Given the description of an element on the screen output the (x, y) to click on. 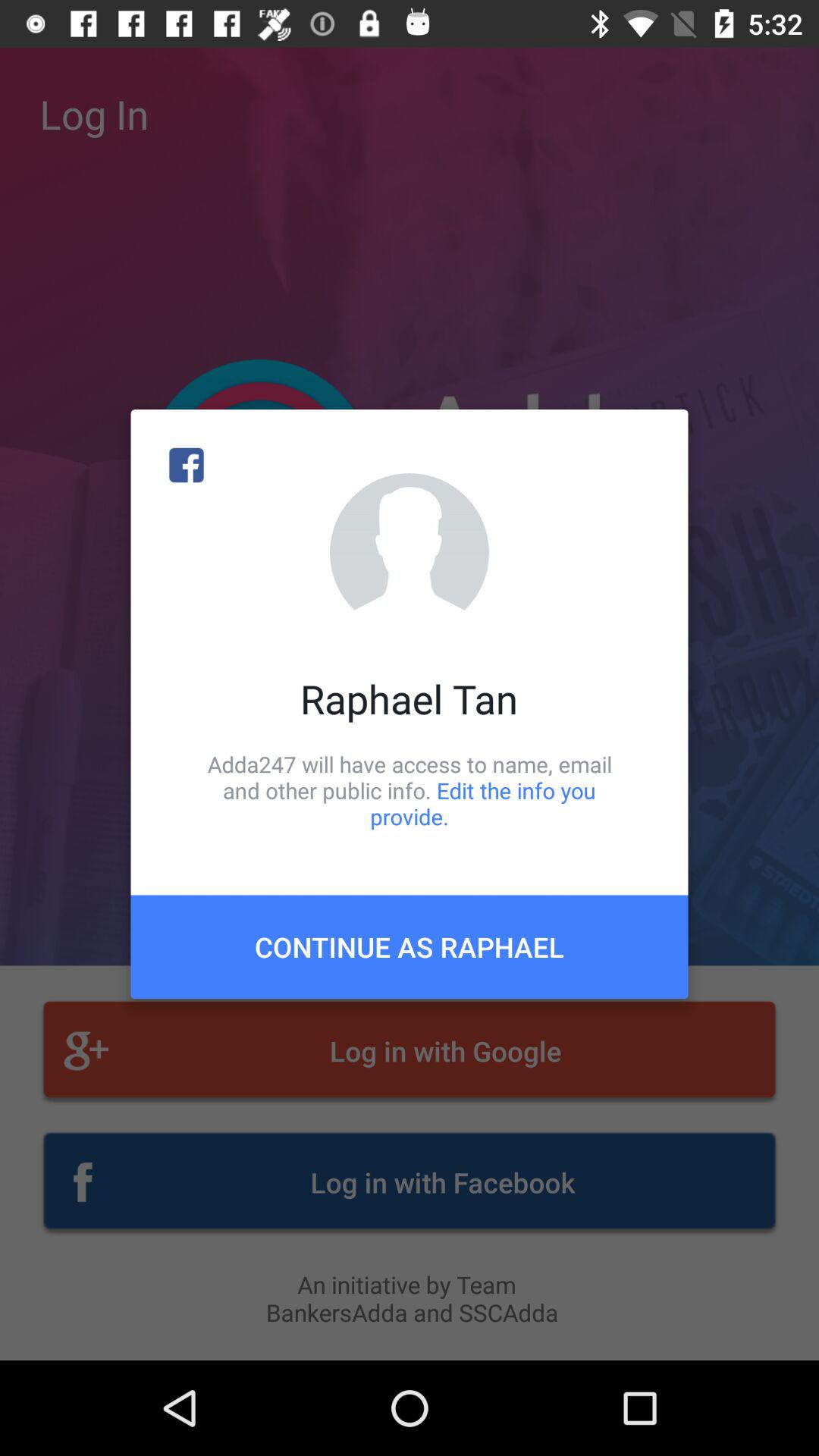
tap the item above the continue as raphael item (409, 790)
